Given the description of an element on the screen output the (x, y) to click on. 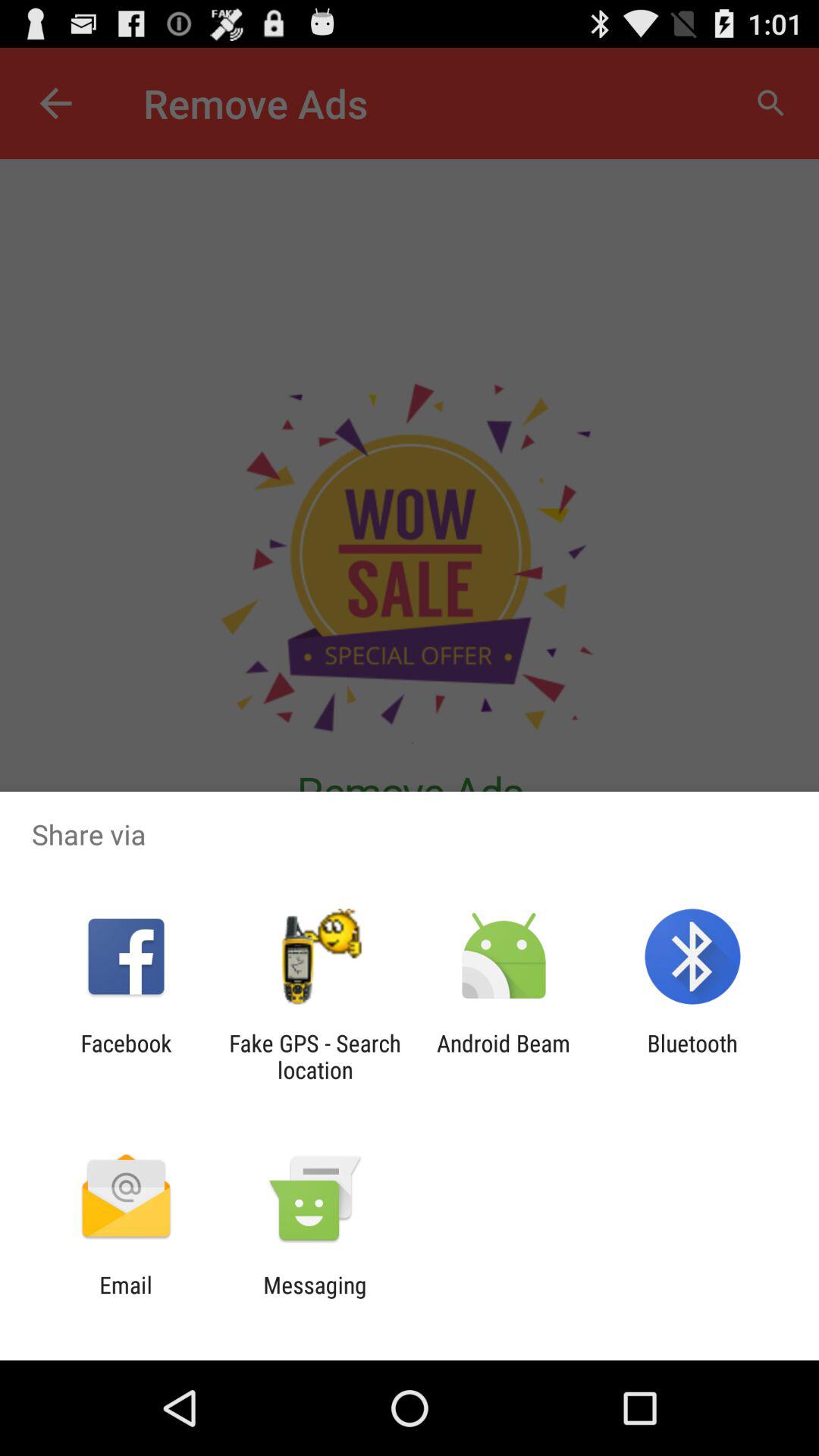
tap the android beam (503, 1056)
